Given the description of an element on the screen output the (x, y) to click on. 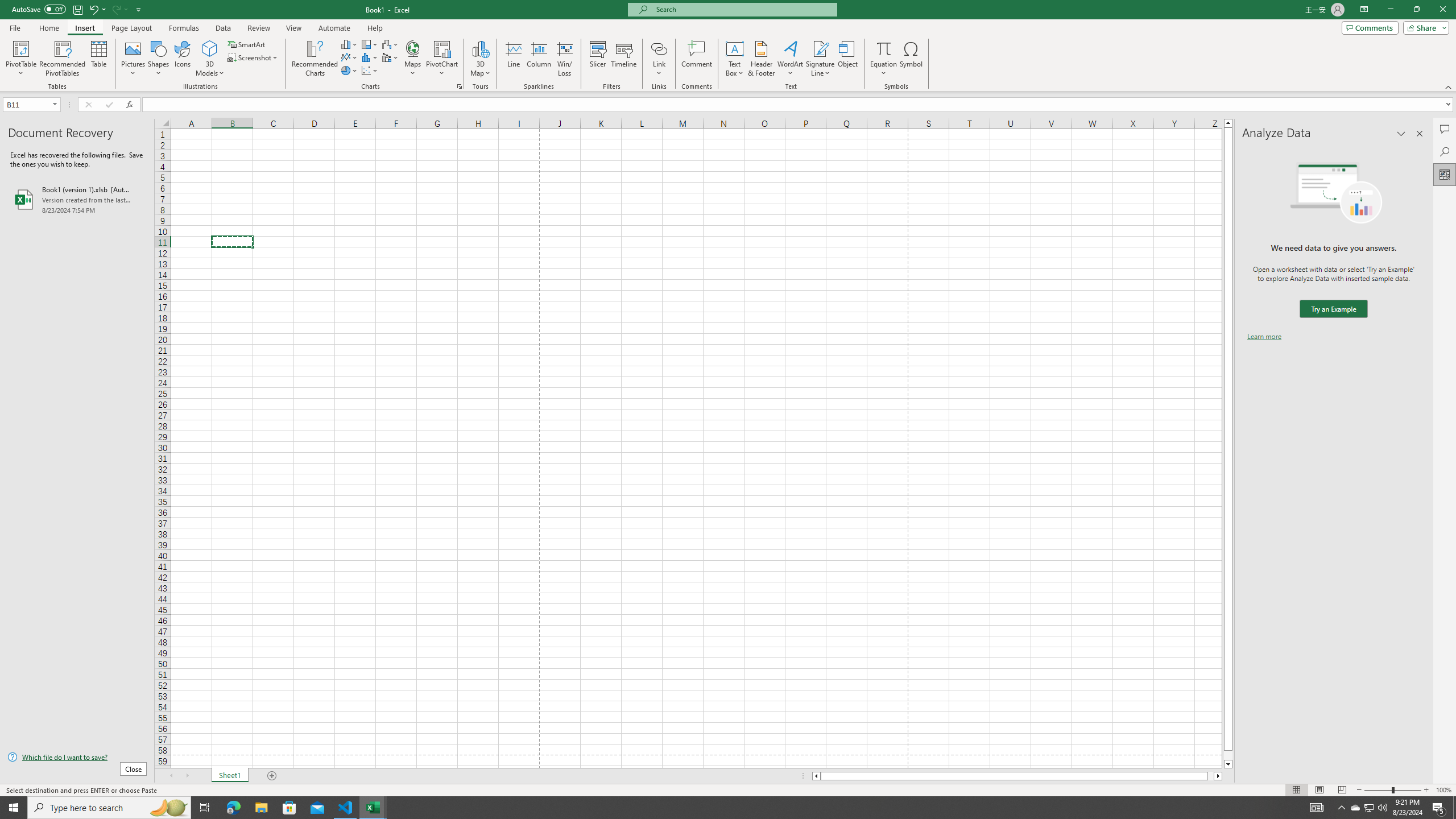
Column (539, 58)
SmartArt... (247, 44)
3D Models (210, 58)
3D Map (480, 48)
PivotChart (442, 58)
